Given the description of an element on the screen output the (x, y) to click on. 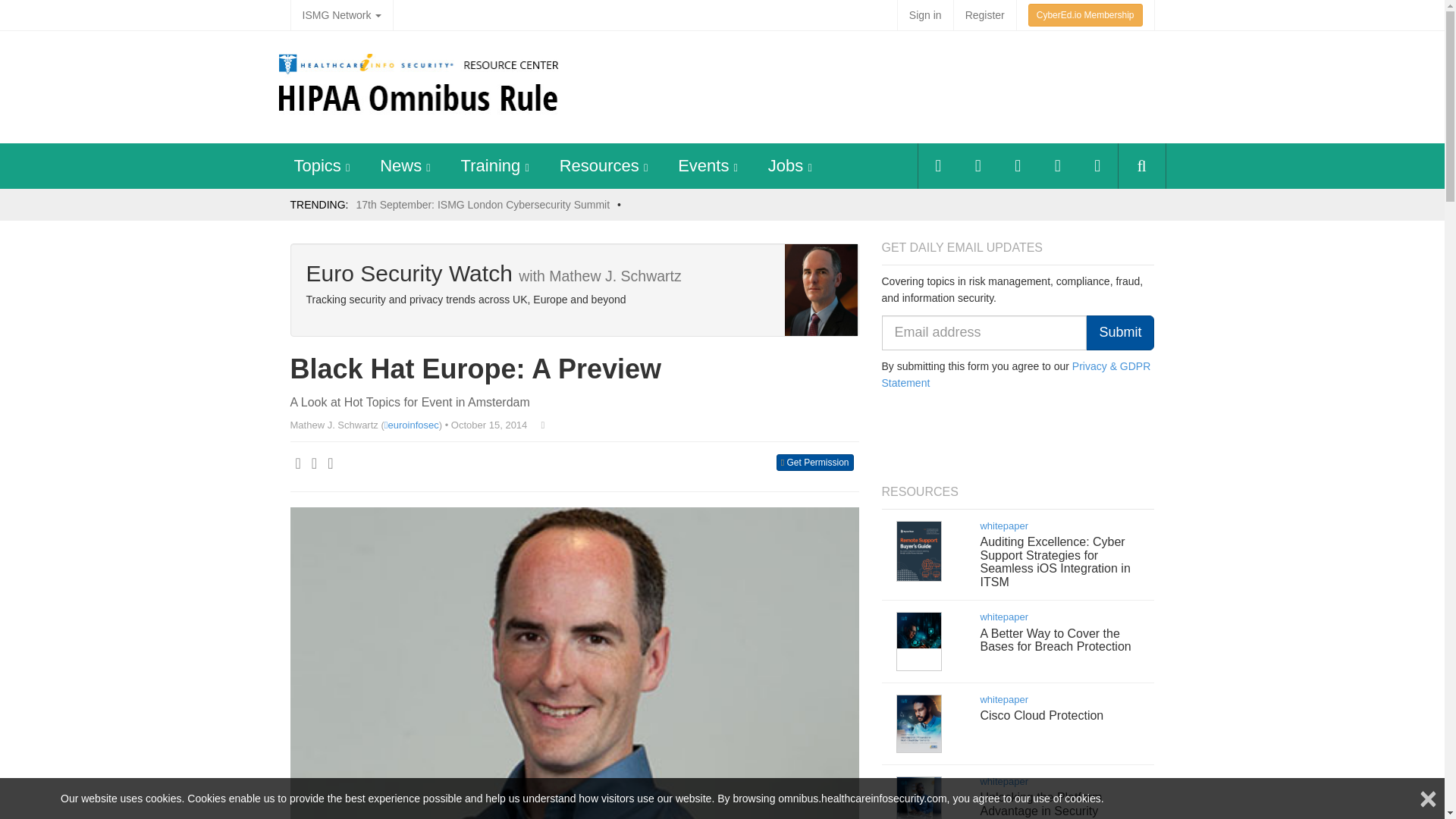
Register (984, 15)
ISMG Network (341, 15)
Topics (317, 165)
Sign in (925, 15)
CyberEd.io Membership (1084, 15)
News (401, 165)
